Given the description of an element on the screen output the (x, y) to click on. 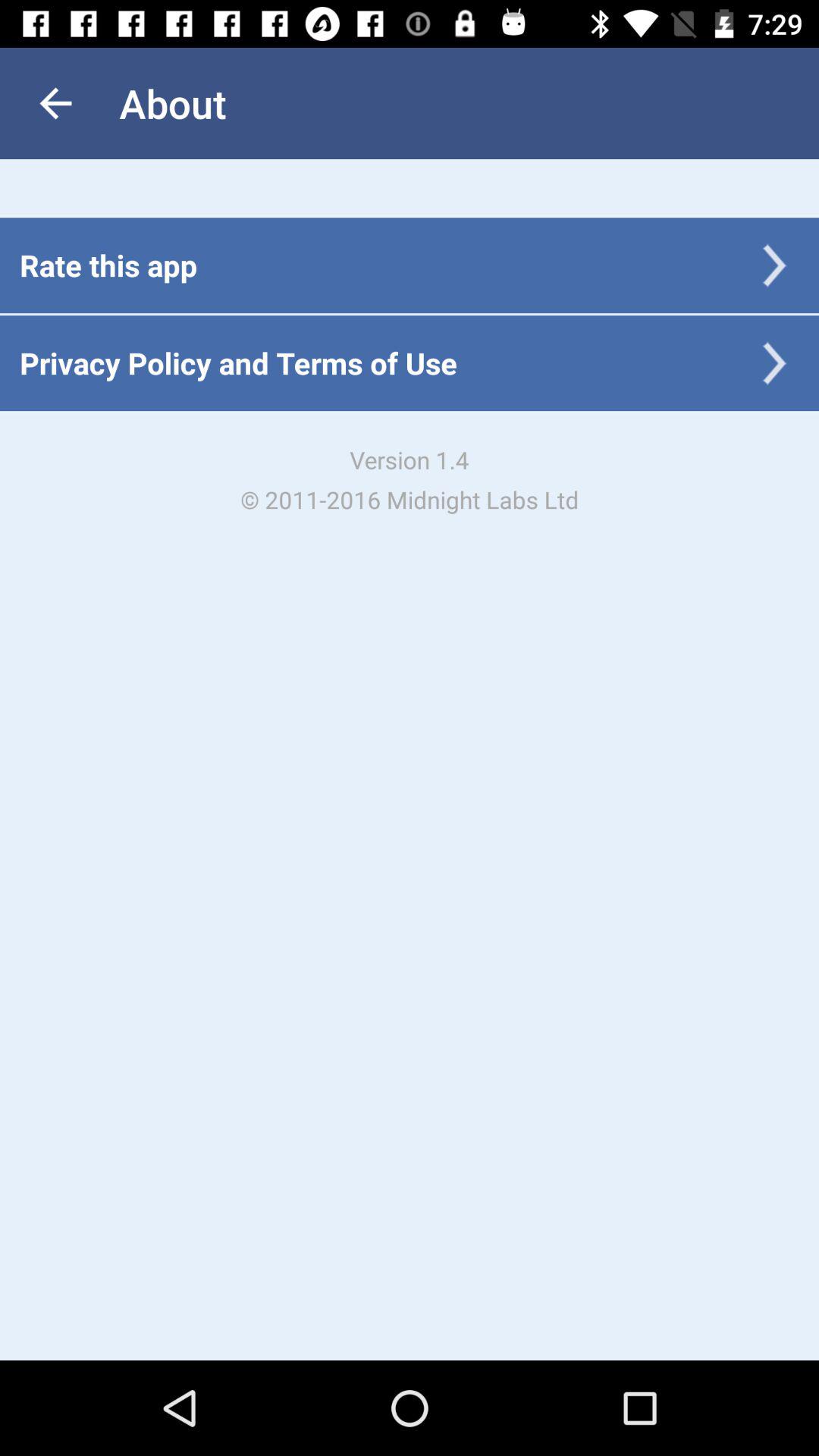
turn off the item above the version 1 4 item (238, 362)
